Given the description of an element on the screen output the (x, y) to click on. 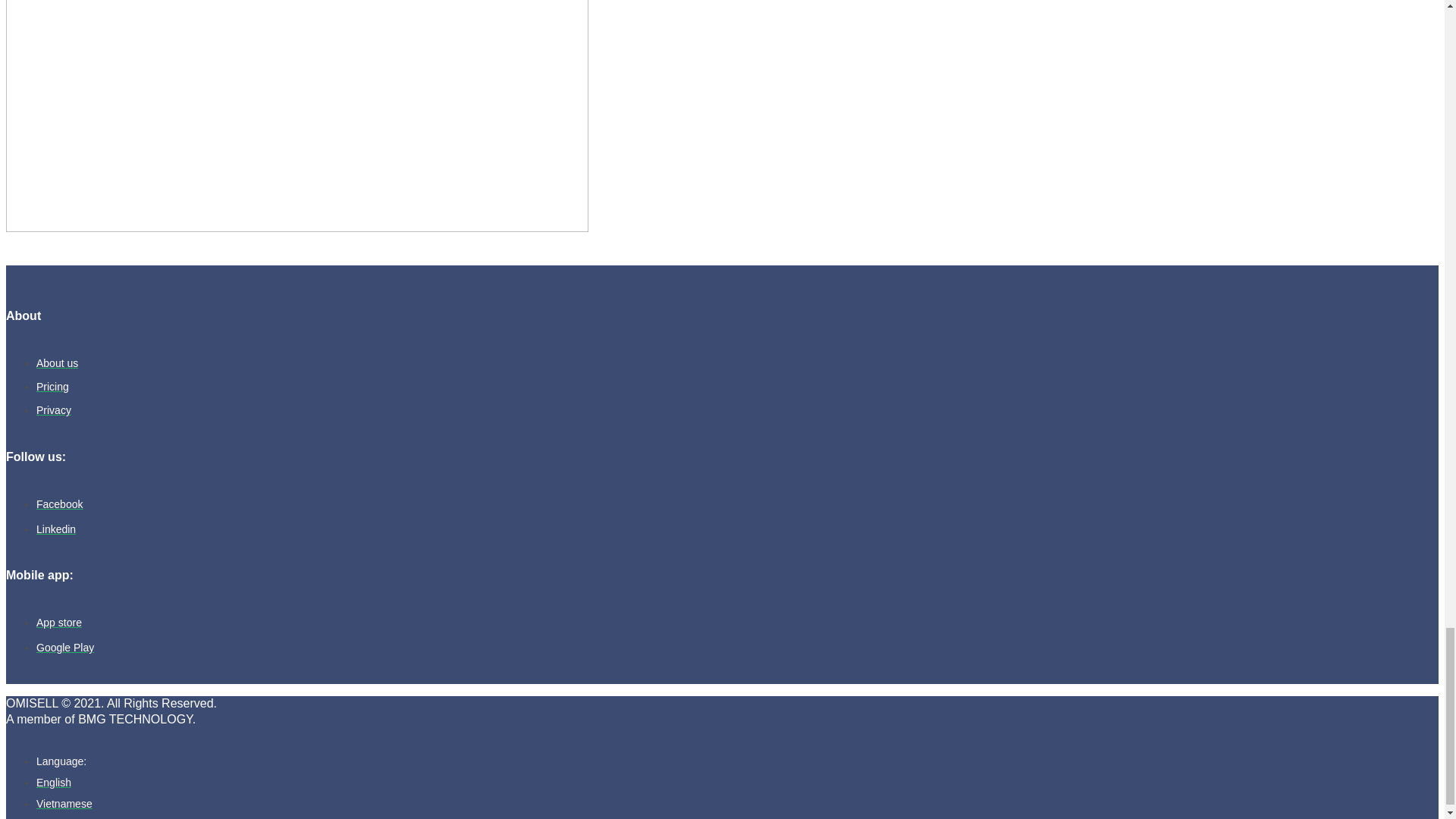
English (53, 782)
Pricing (52, 386)
Google Play (65, 647)
About us (57, 363)
Facebook (59, 503)
App store (58, 622)
Linkedin (55, 529)
Privacy (53, 410)
Vietnamese (64, 803)
